Given the description of an element on the screen output the (x, y) to click on. 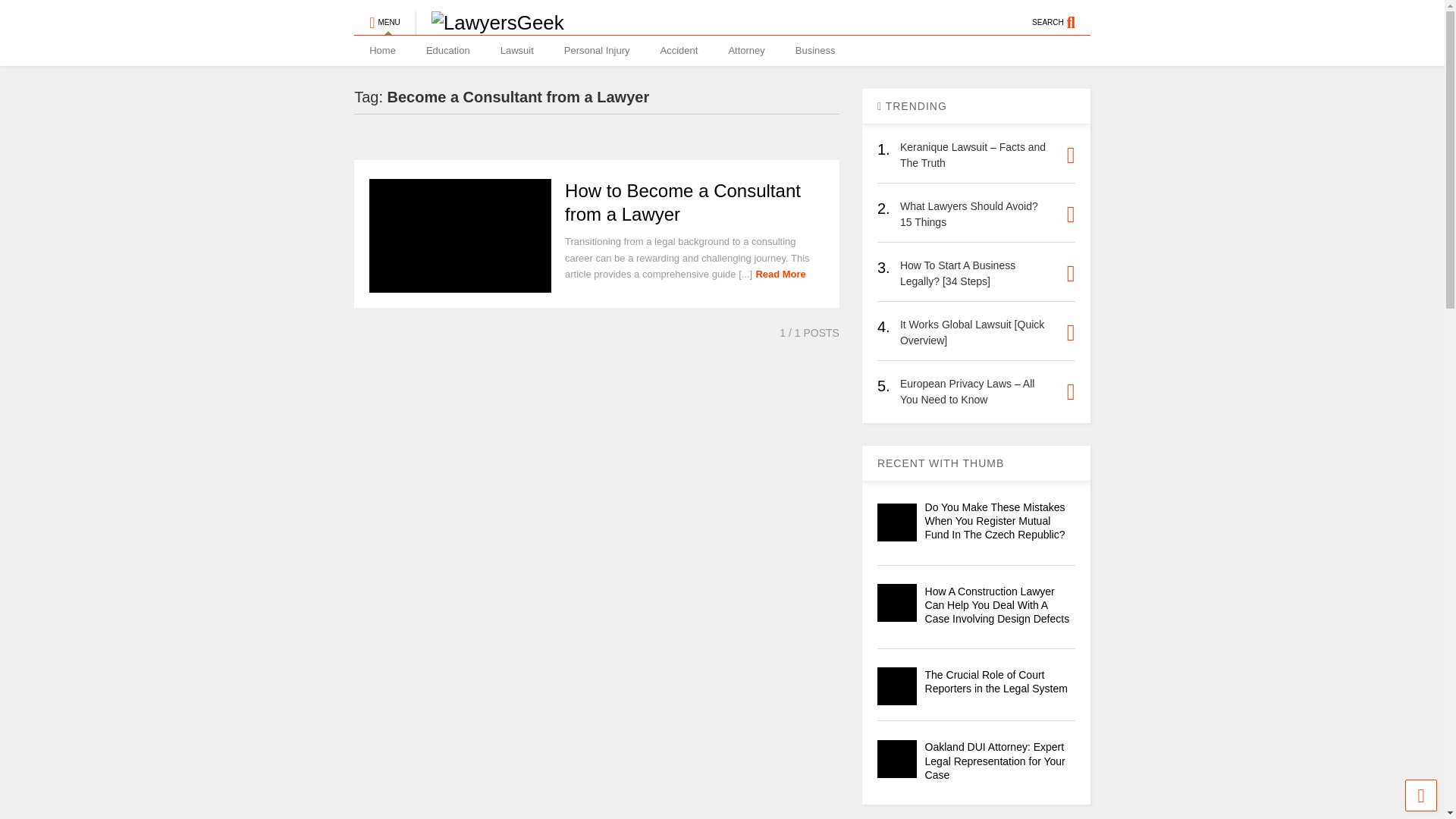
The Crucial Role of Court Reporters in the Legal System (995, 681)
RECENT WITH THUMB (940, 463)
MENU (383, 15)
Education (447, 51)
Accident (679, 51)
Read More (780, 274)
Personal Injury (596, 51)
How to Become a Consultant from a Lawyer (682, 202)
What Lawyers Should Avoid? 15 Things (968, 213)
Attorney (745, 51)
LawyersGeek (489, 22)
Home (381, 51)
